Given the description of an element on the screen output the (x, y) to click on. 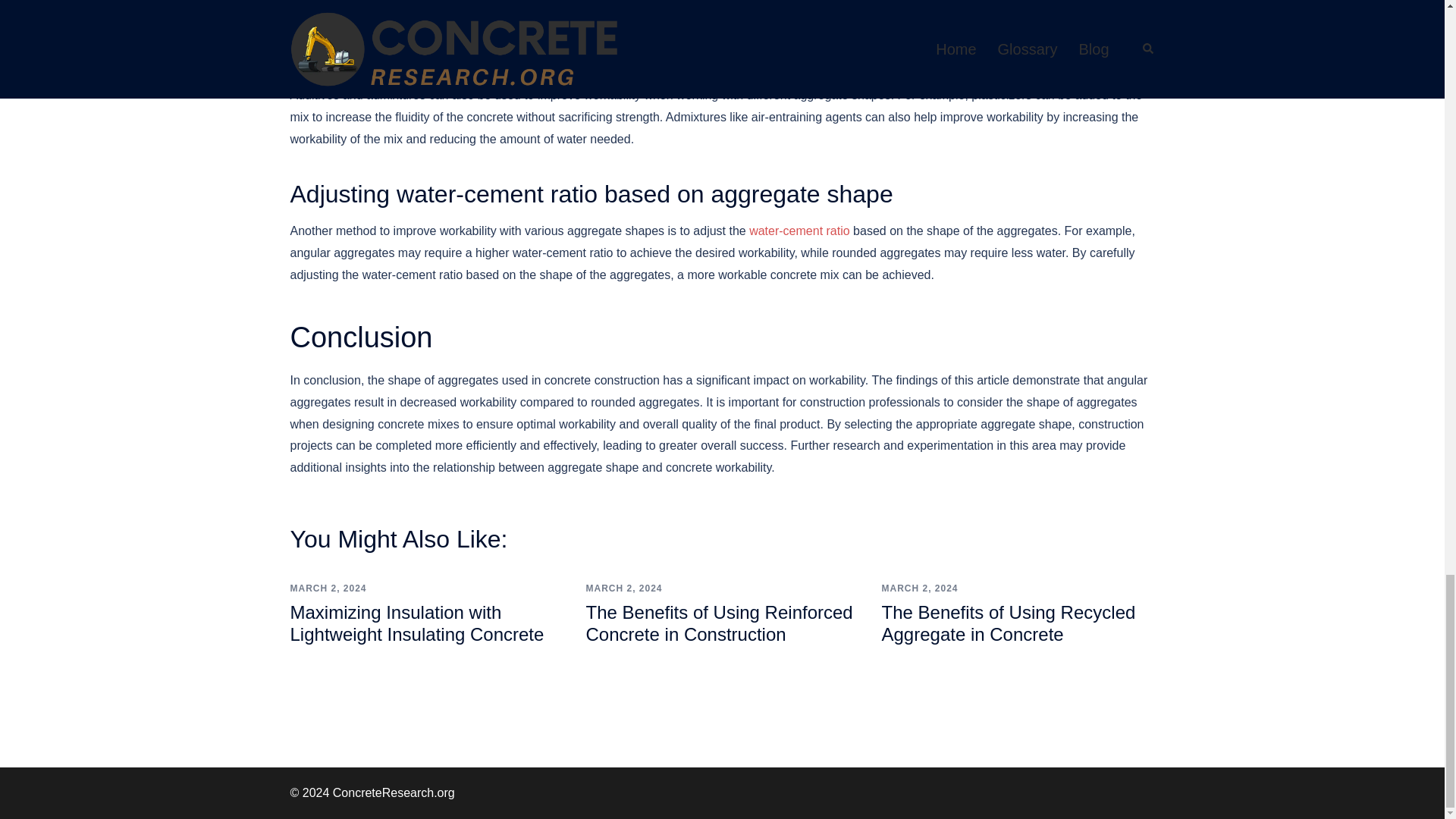
The Benefits of Using Recycled Aggregate in Concrete (1007, 622)
MARCH 2, 2024 (327, 588)
MARCH 2, 2024 (919, 588)
water-cement ratio (799, 230)
The Benefits of Using Reinforced Concrete in Construction (718, 622)
water-cement ratio (799, 230)
MARCH 2, 2024 (623, 588)
Maximizing Insulation with Lightweight Insulating Concrete (416, 622)
